Given the description of an element on the screen output the (x, y) to click on. 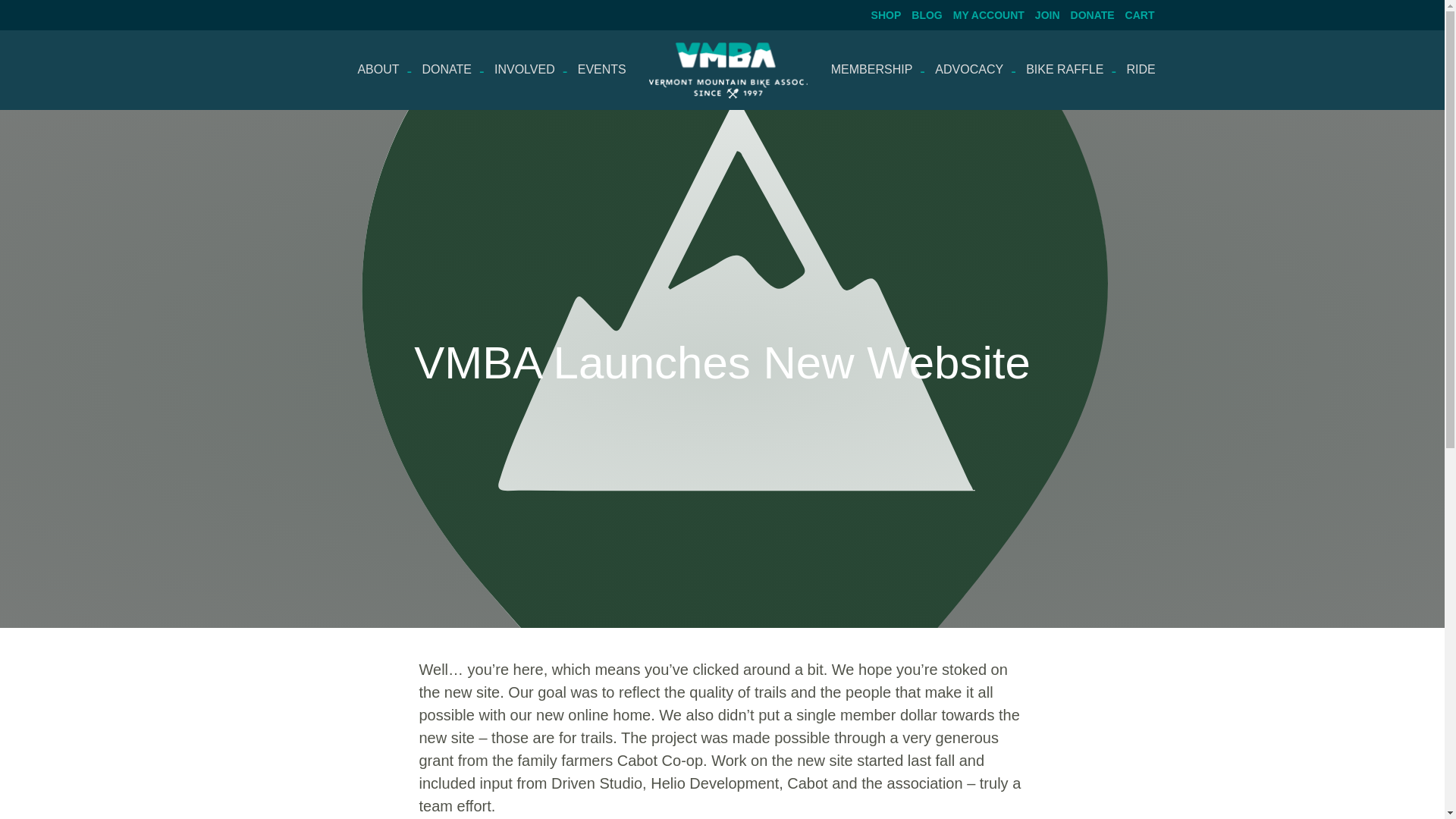
DONATE (1087, 13)
MY ACCOUNT (983, 13)
BLOG (921, 13)
CART (1134, 13)
EVENTS (601, 69)
ADVOCACY (968, 69)
DONATE (446, 69)
MEMBERSHIP (871, 69)
JOIN (1042, 13)
SHOP (880, 13)
ABOUT (383, 69)
INVOLVED (524, 69)
